Given the description of an element on the screen output the (x, y) to click on. 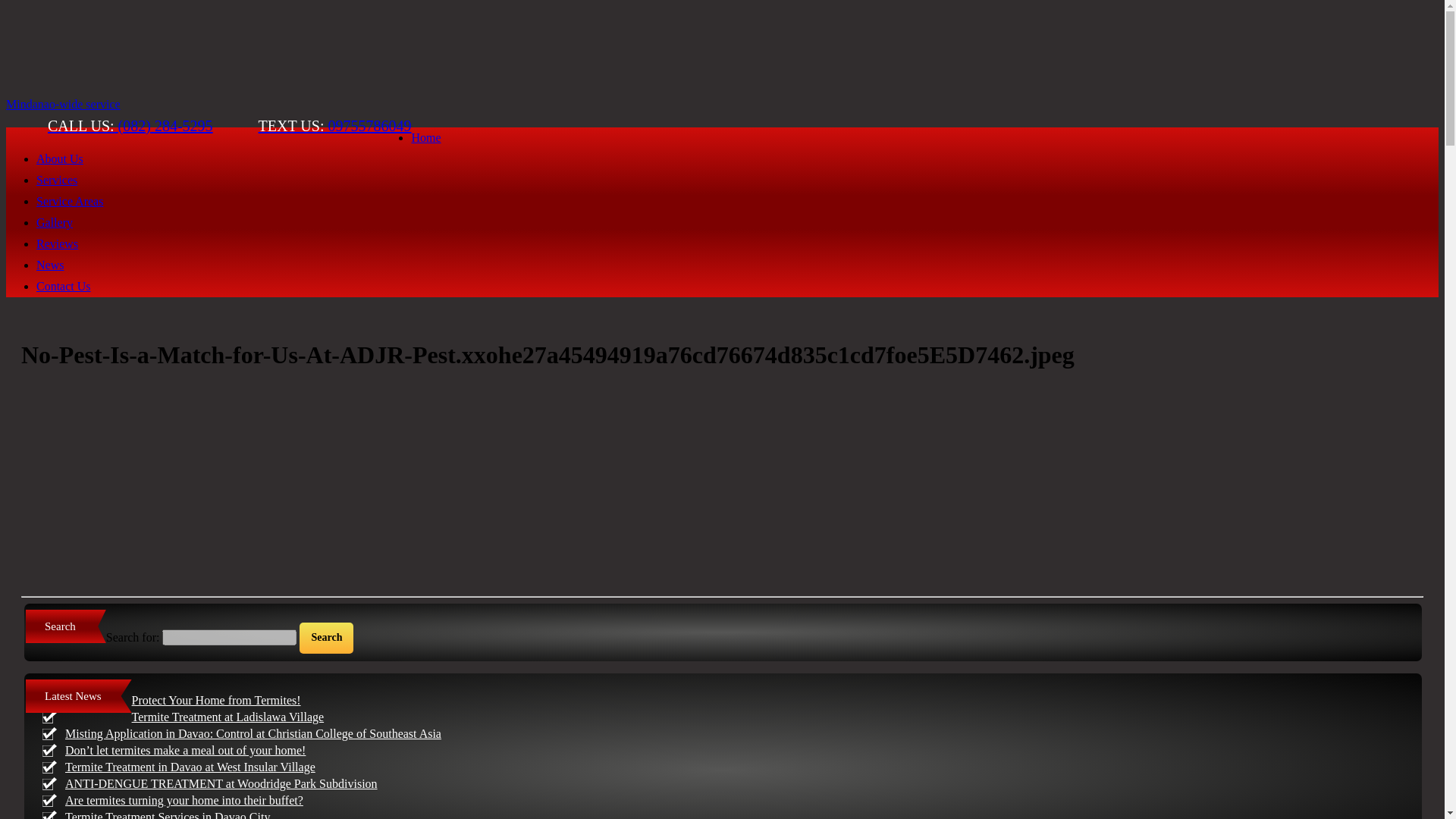
Search (326, 637)
TEXT US: 09755786049 (335, 125)
Search (326, 637)
Home (425, 137)
Termite Treatment in Davao at West Insular Village (190, 766)
Termite Treatment at Ladislawa Village (228, 716)
Service Areas (69, 201)
Mindanao-wide service (62, 103)
Protect Your Home from Termites! (216, 699)
Termite Treatment Services in Davao City (167, 814)
News (50, 264)
ANTI-DENGUE TREATMENT at Woodridge Park Subdivision (221, 783)
Contact Us (63, 286)
